Given the description of an element on the screen output the (x, y) to click on. 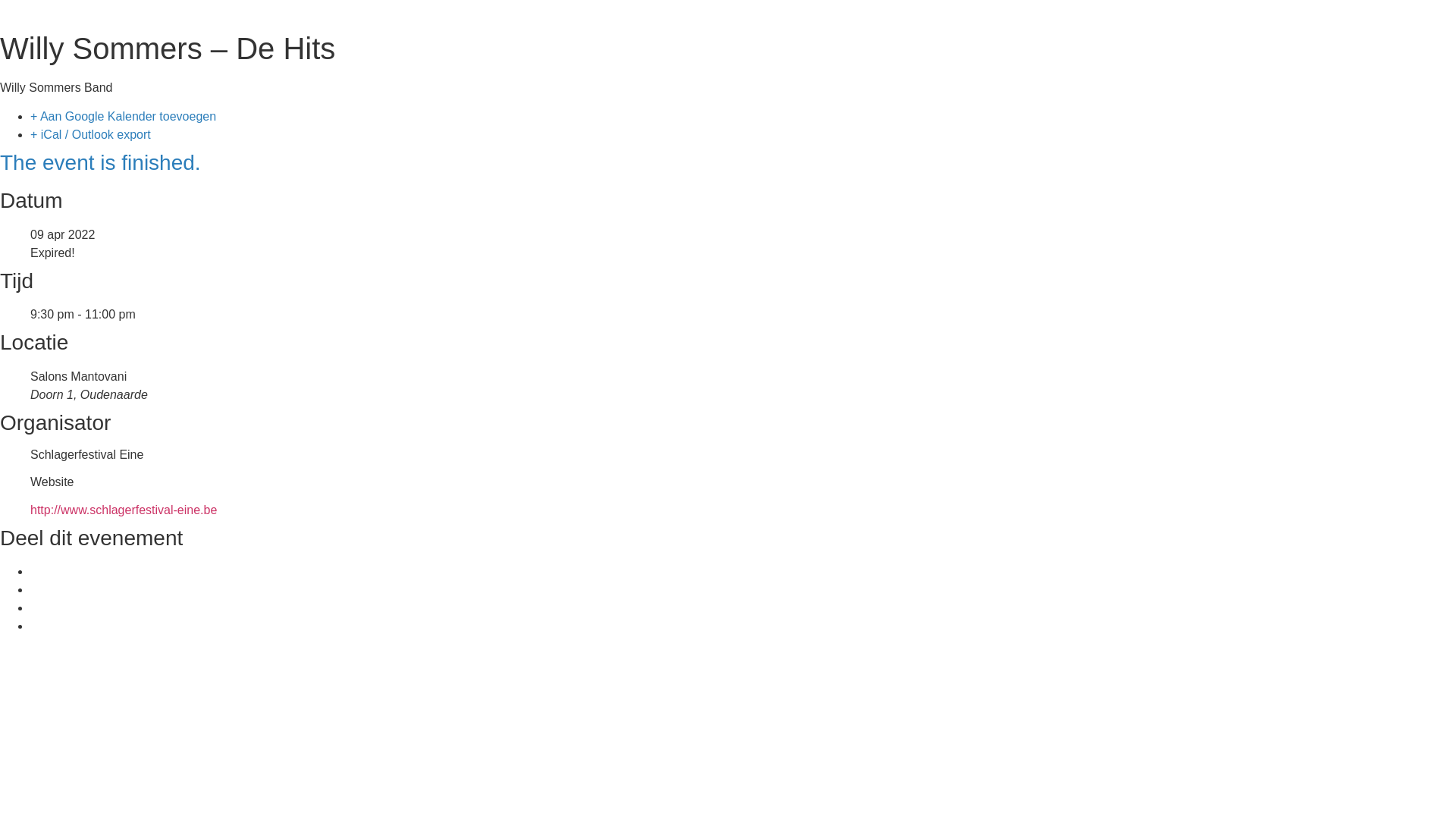
+ Aan Google Kalender toevoegen Element type: text (123, 115)
+ iCal / Outlook export Element type: text (90, 134)
http://www.schlagerfestival-eine.be Element type: text (123, 509)
